Given the description of an element on the screen output the (x, y) to click on. 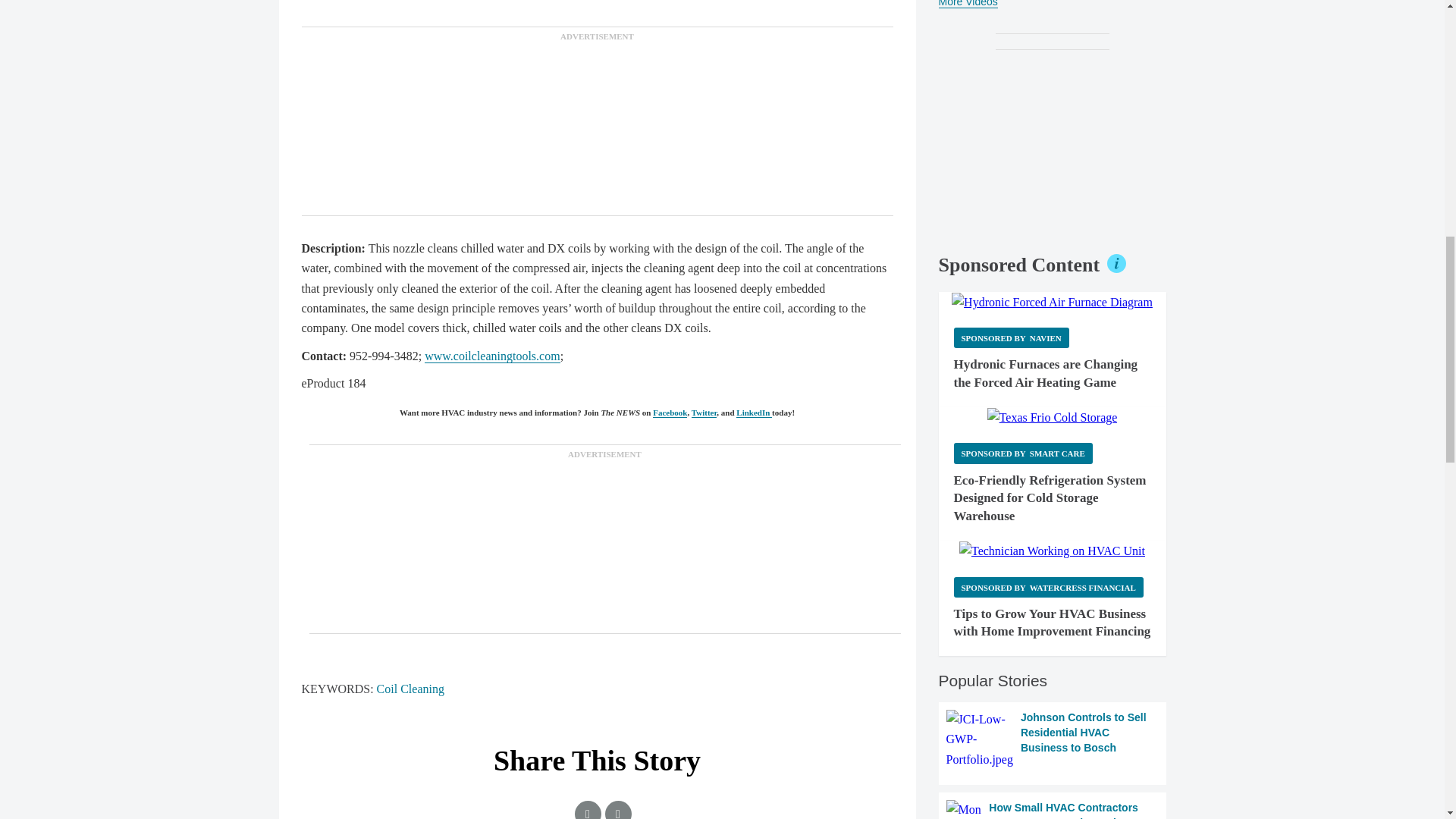
Hydronic Forced Air Furnace Diagram (1052, 302)
Texas Frio Cold Storage (1052, 417)
Sponsored by Watercress Financial (1047, 586)
Sponsored by Smart Care (1023, 453)
Johnson Controls to Sell Residential HVAC Business to Bosch (1052, 739)
Sponsored by Navien (1010, 337)
Technician Working on HVAC Unit (1051, 551)
